Given the description of an element on the screen output the (x, y) to click on. 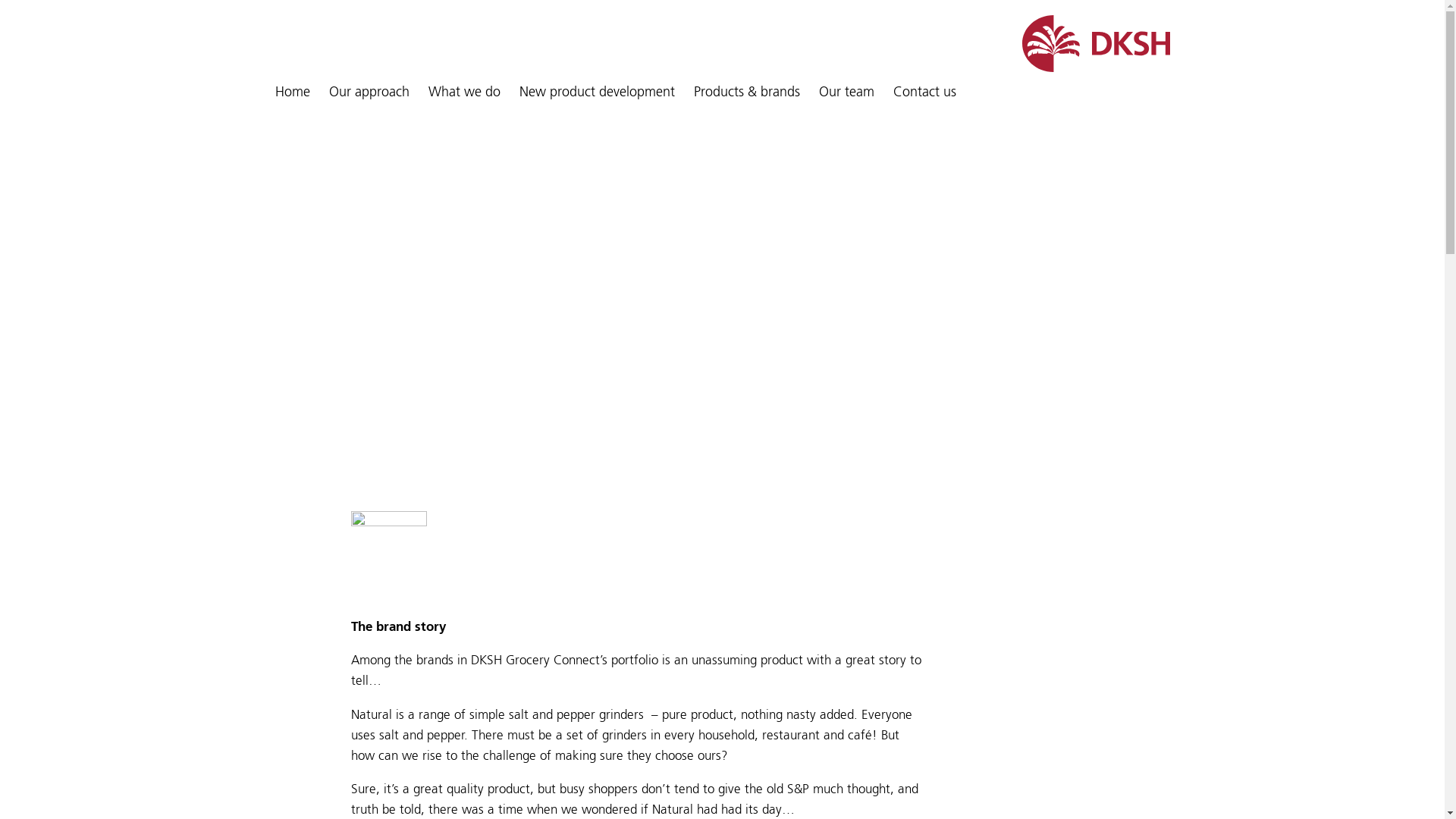
What we do Element type: text (463, 92)
Contact us Element type: text (924, 92)
Our approach Element type: text (369, 92)
Our team Element type: text (846, 92)
Home Element type: text (291, 92)
Products & brands Element type: text (746, 92)
New product development Element type: text (596, 92)
